Given the description of an element on the screen output the (x, y) to click on. 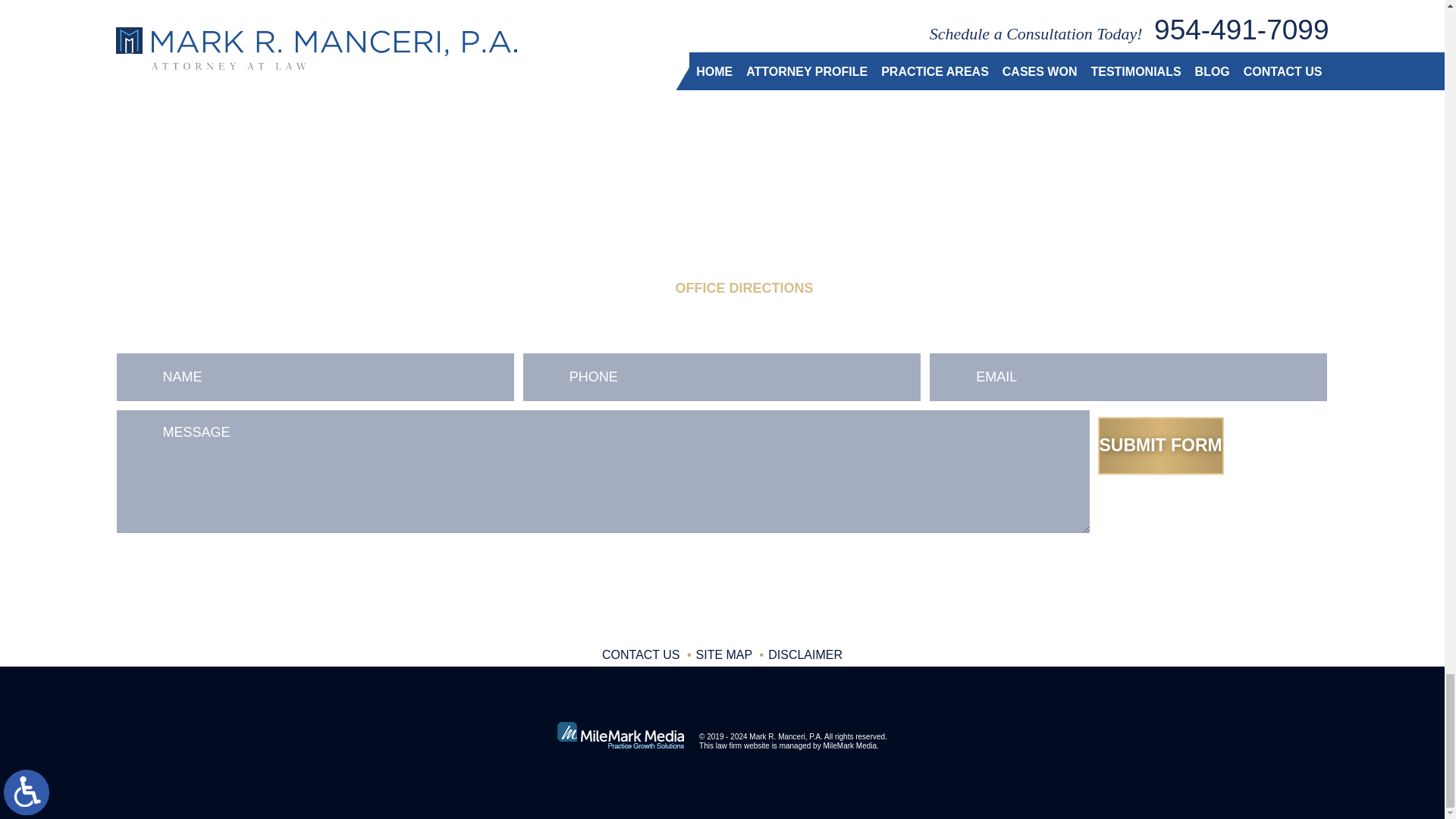
Submit Form (1160, 445)
